Given the description of an element on the screen output the (x, y) to click on. 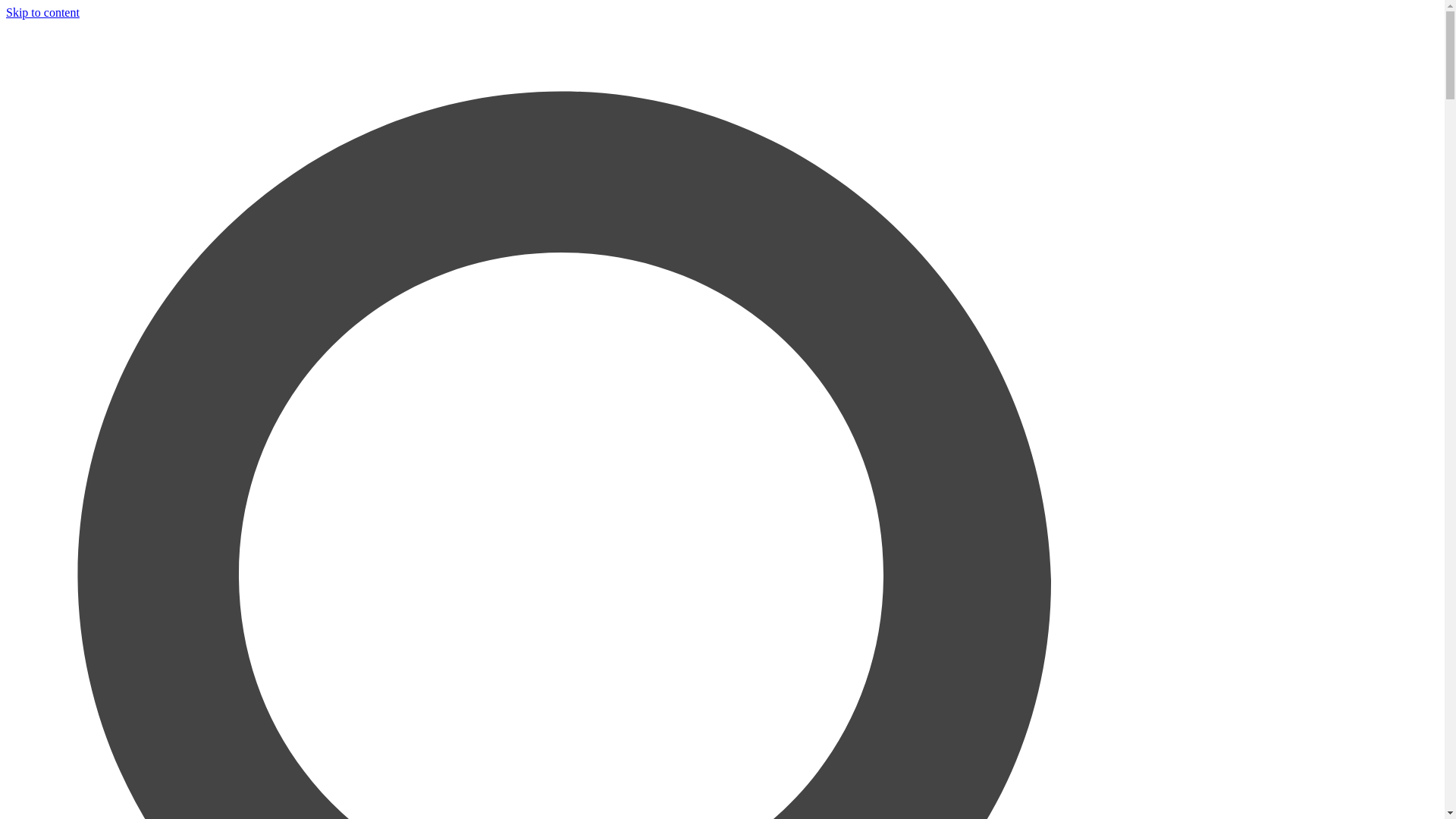
Skip to content Element type: text (42, 12)
